Given the description of an element on the screen output the (x, y) to click on. 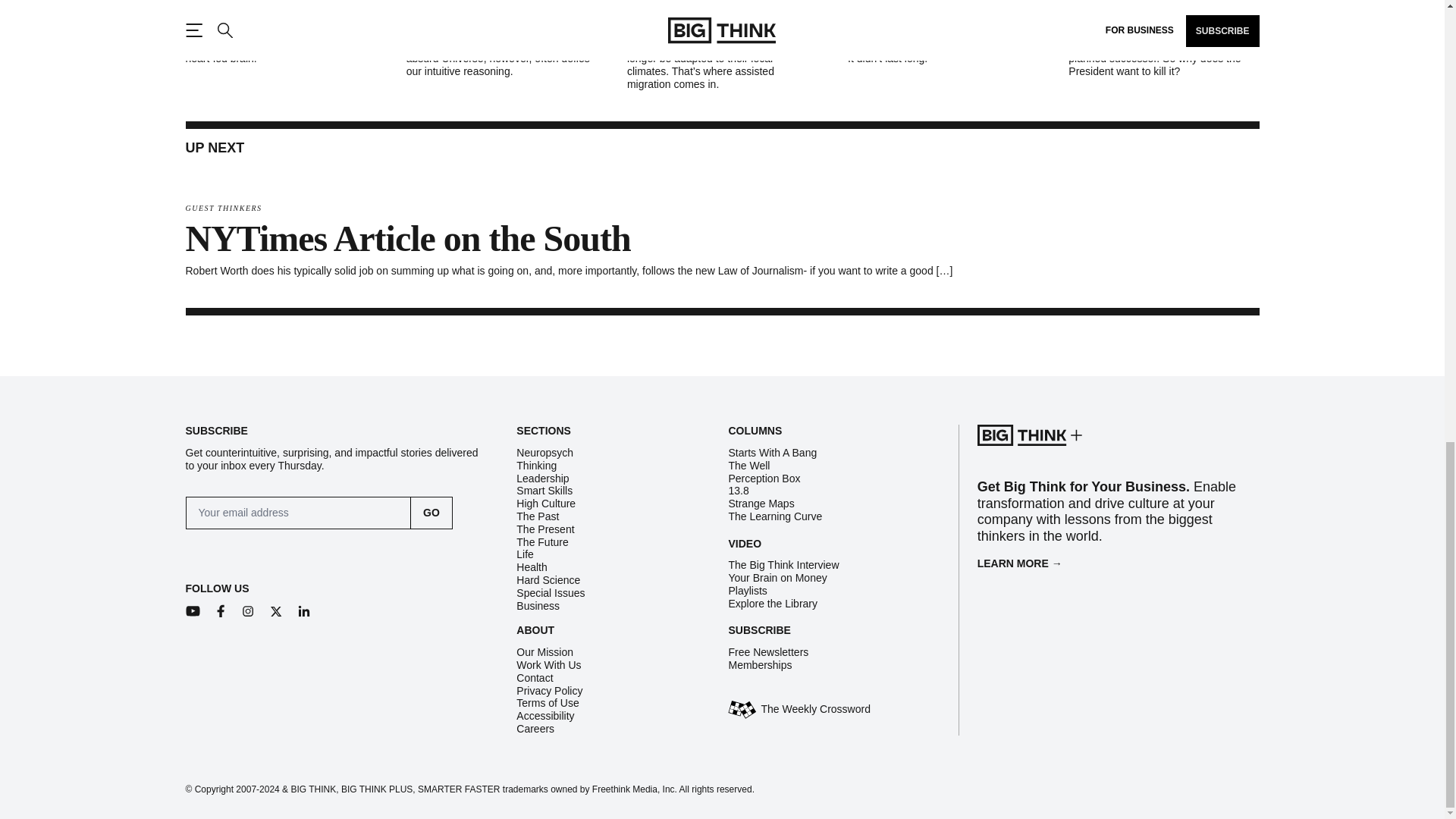
Go (431, 512)
